Given the description of an element on the screen output the (x, y) to click on. 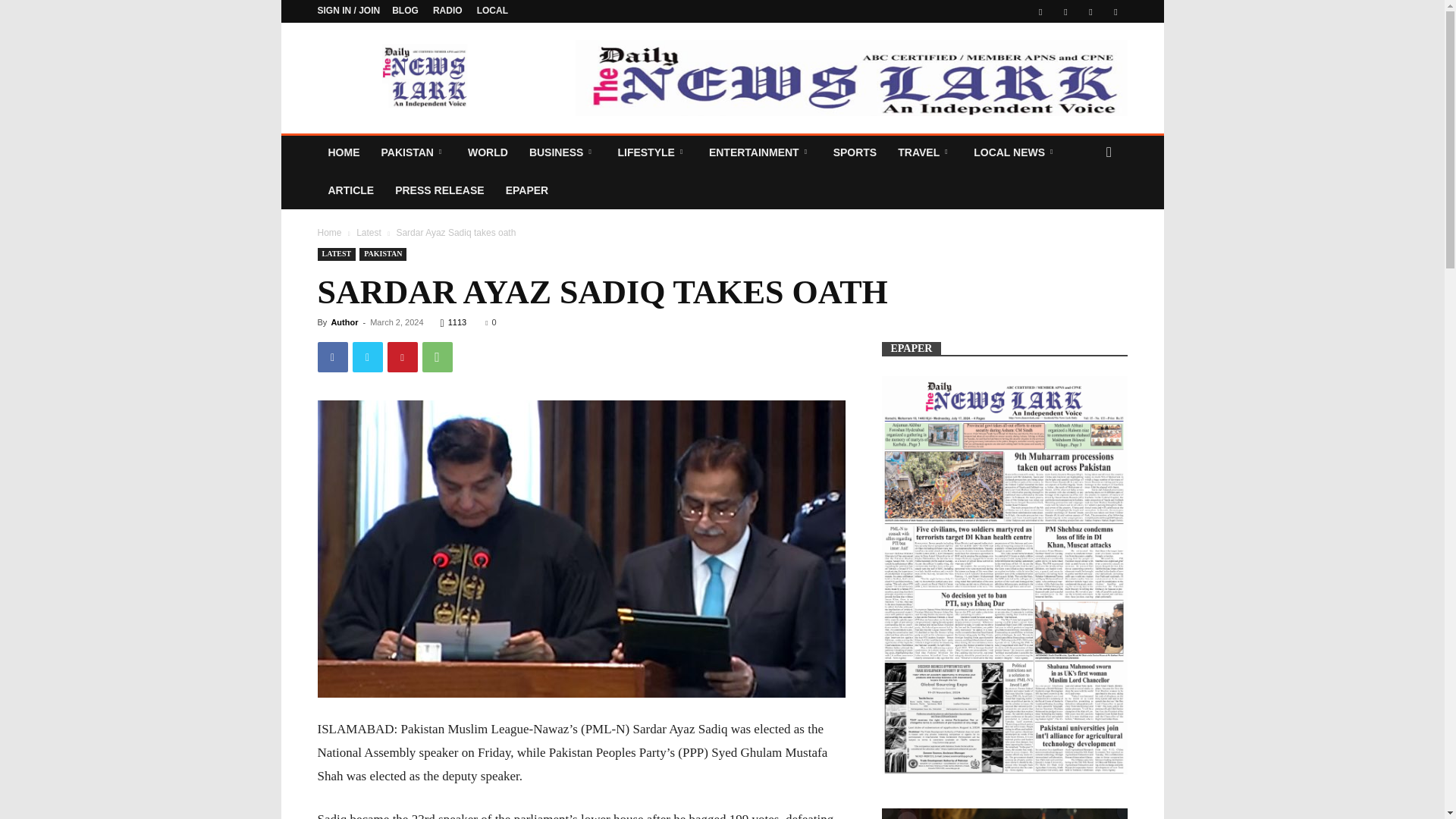
Facebook (1040, 11)
Youtube (1114, 11)
BLOG (405, 9)
LOCAL (492, 9)
RADIO (447, 9)
VKontakte (1090, 11)
Twitter (1065, 11)
